Given the description of an element on the screen output the (x, y) to click on. 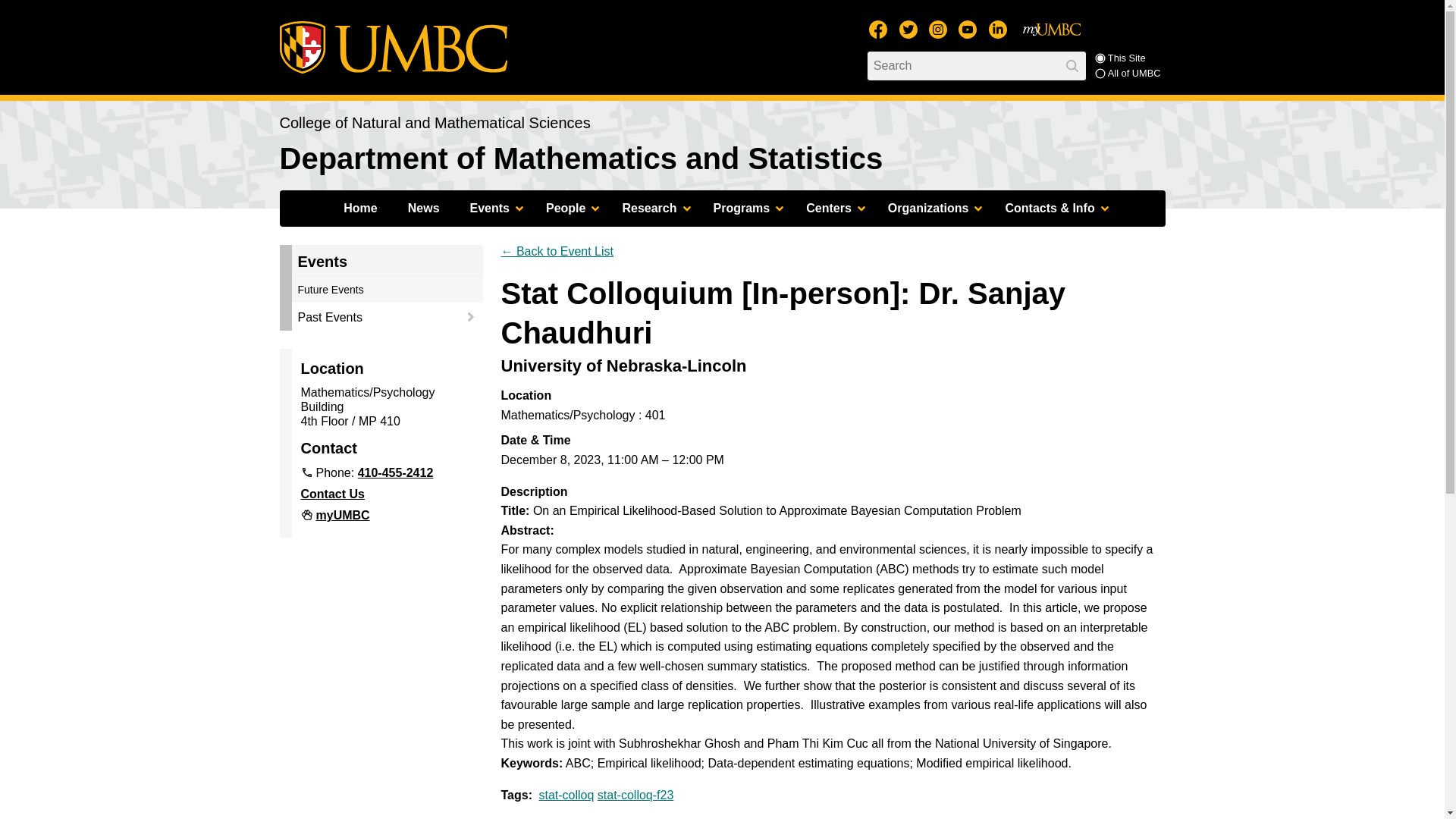
People (569, 208)
News (423, 208)
Events (492, 208)
College of Natural and Mathematical Sciences (434, 122)
Home (360, 208)
Department of Mathematics and Statistics (580, 158)
Research (652, 208)
